Given the description of an element on the screen output the (x, y) to click on. 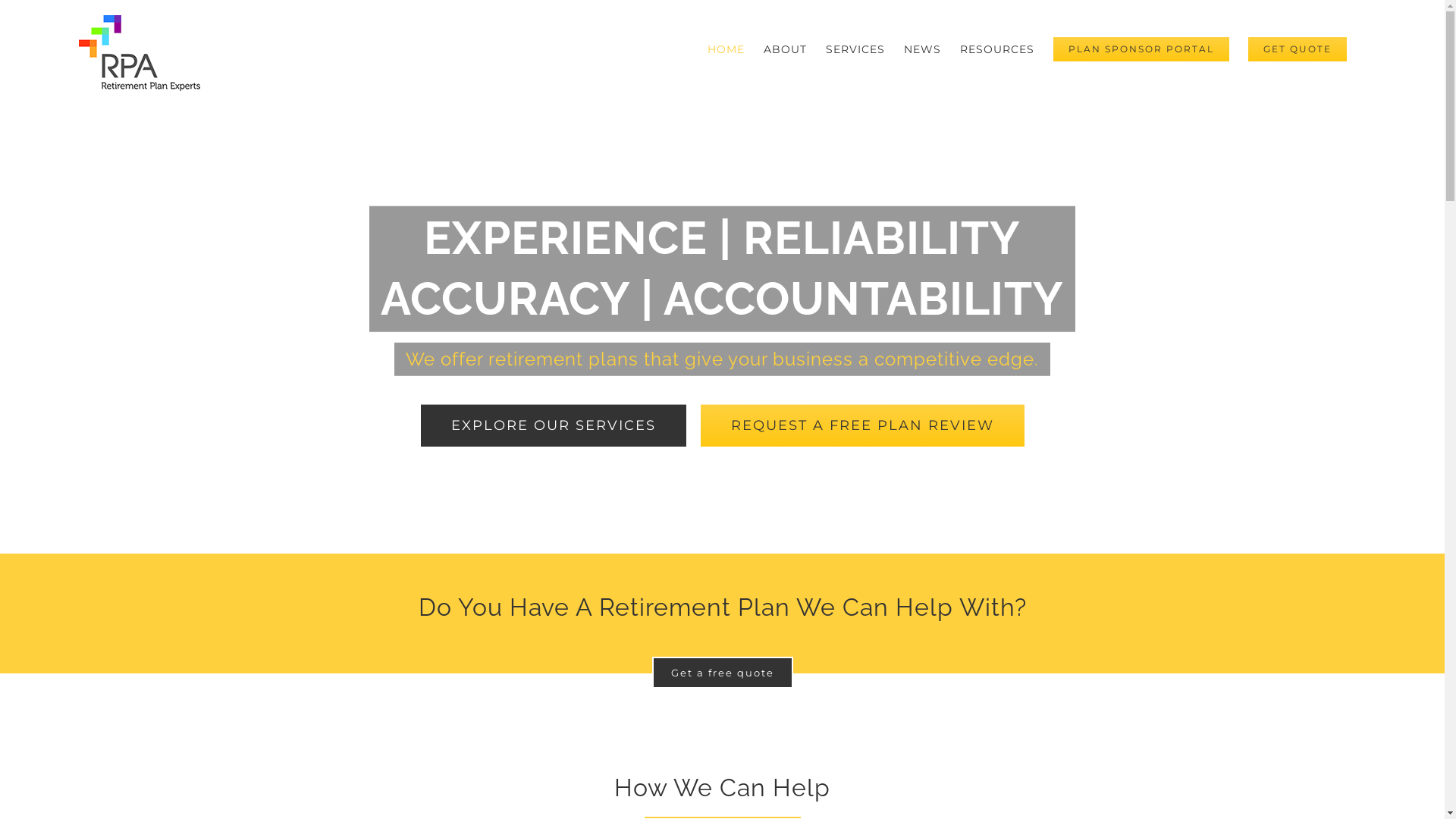
REQUEST A FREE PLAN REVIEW Element type: text (862, 424)
EXPLORE OUR SERVICES Element type: text (552, 424)
Get a free quote Element type: text (722, 672)
SERVICES Element type: text (854, 49)
GET QUOTE Element type: text (1297, 49)
PLAN SPONSOR PORTAL Element type: text (1141, 49)
HOME Element type: text (725, 49)
ABOUT Element type: text (784, 49)
RESOURCES Element type: text (997, 49)
NEWS Element type: text (922, 49)
